Given the description of an element on the screen output the (x, y) to click on. 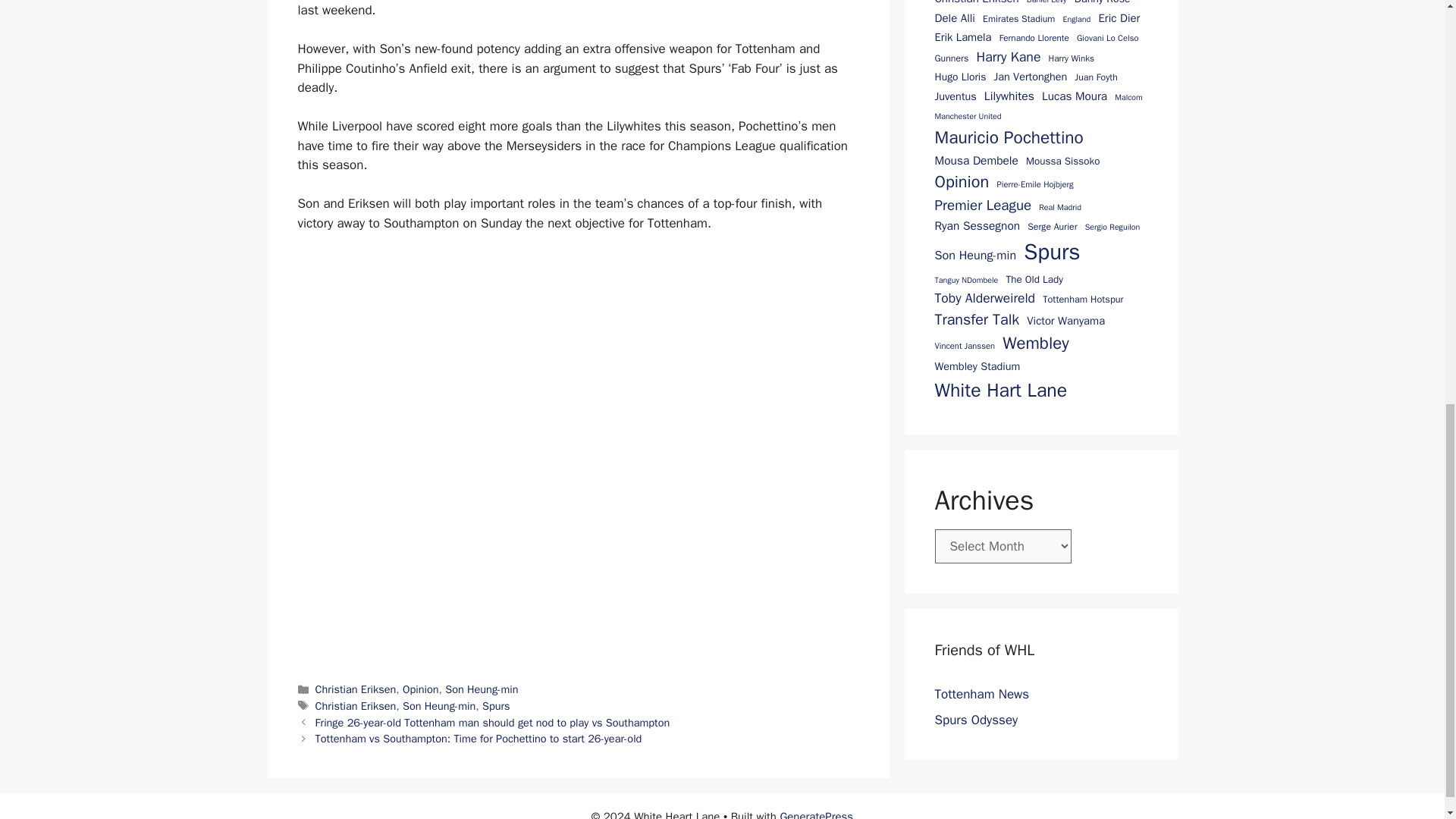
Fernando Llorente (1033, 38)
Dele Alli (954, 17)
Erik Lamela (962, 36)
Danny Rose (1102, 3)
Eric Dier (1118, 17)
Opinion (421, 689)
Daniel Levy (1046, 2)
Gunners (951, 58)
Christian Eriksen (975, 3)
Spurs (496, 705)
Emirates Stadium (1018, 18)
Son Heung-min (439, 705)
England (1076, 19)
